Given the description of an element on the screen output the (x, y) to click on. 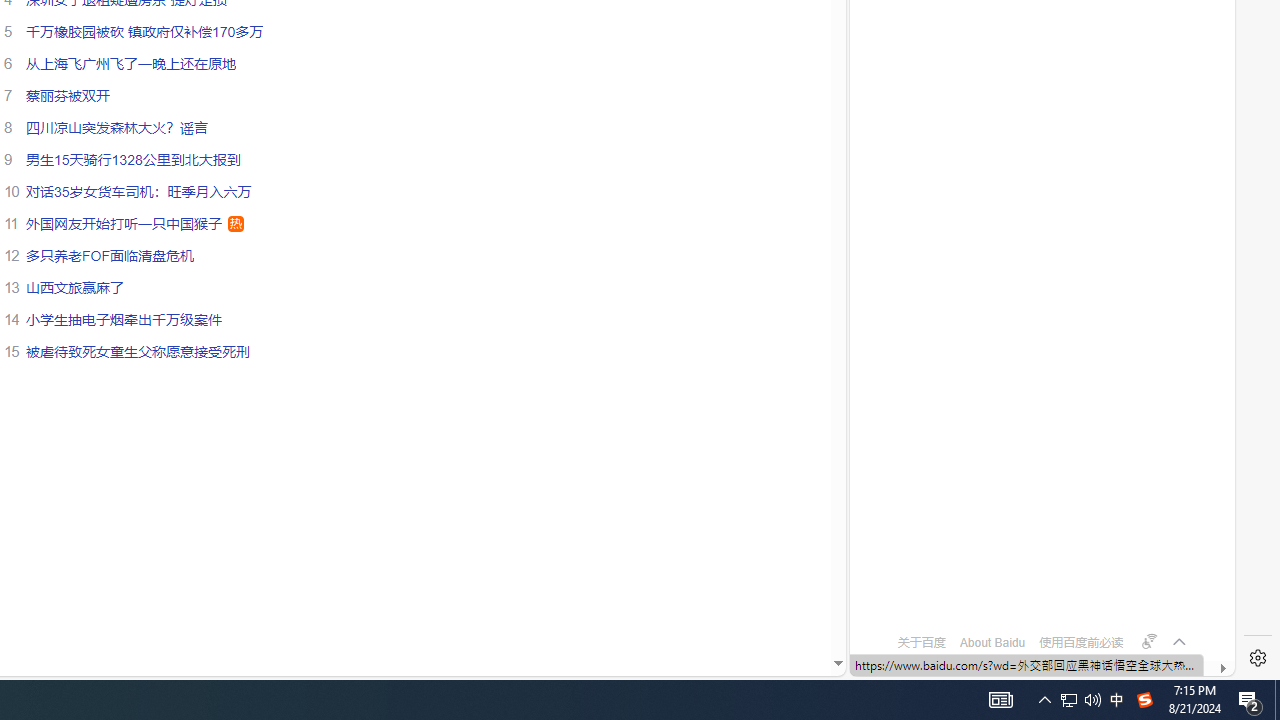
About Baidu (992, 642)
OFTV - Enjoy videos from your favorite OF creators! (1034, 604)
